Given the description of an element on the screen output the (x, y) to click on. 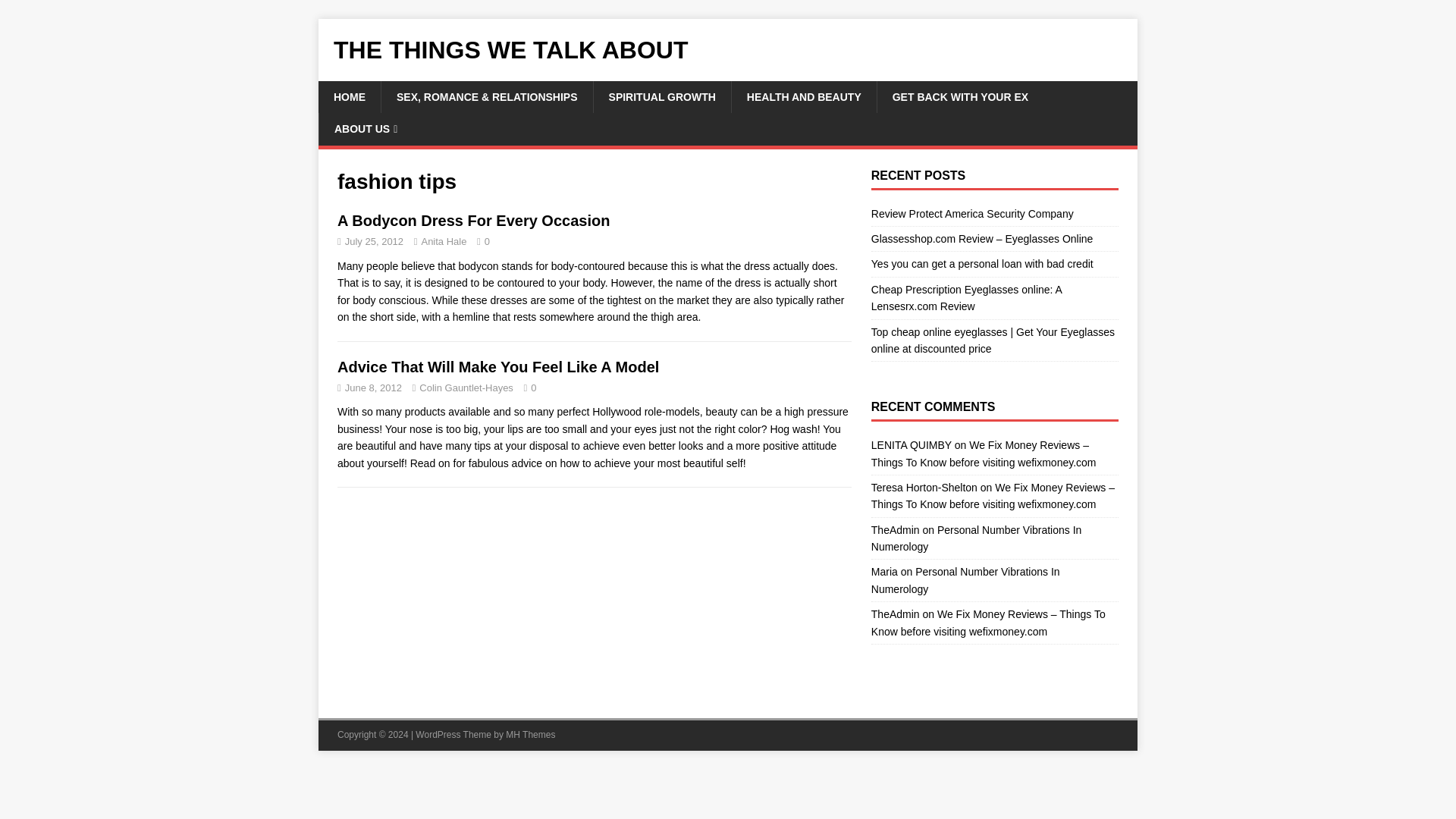
TheAdmin (895, 530)
Personal Number Vibrations In Numerology (964, 579)
0 (486, 241)
Advice That Will Make You Feel Like A Model (498, 366)
Review Protect America Security Company (972, 214)
HOME (349, 97)
0 (533, 387)
TheAdmin (895, 613)
SPIRITUAL GROWTH (661, 97)
ABOUT US (365, 128)
GET BACK WITH YOUR EX (959, 97)
Anita Hale (442, 241)
A Bodycon Dress For Every Occasion (473, 220)
The Things We Talk About (727, 49)
HEALTH AND BEAUTY (803, 97)
